Given the description of an element on the screen output the (x, y) to click on. 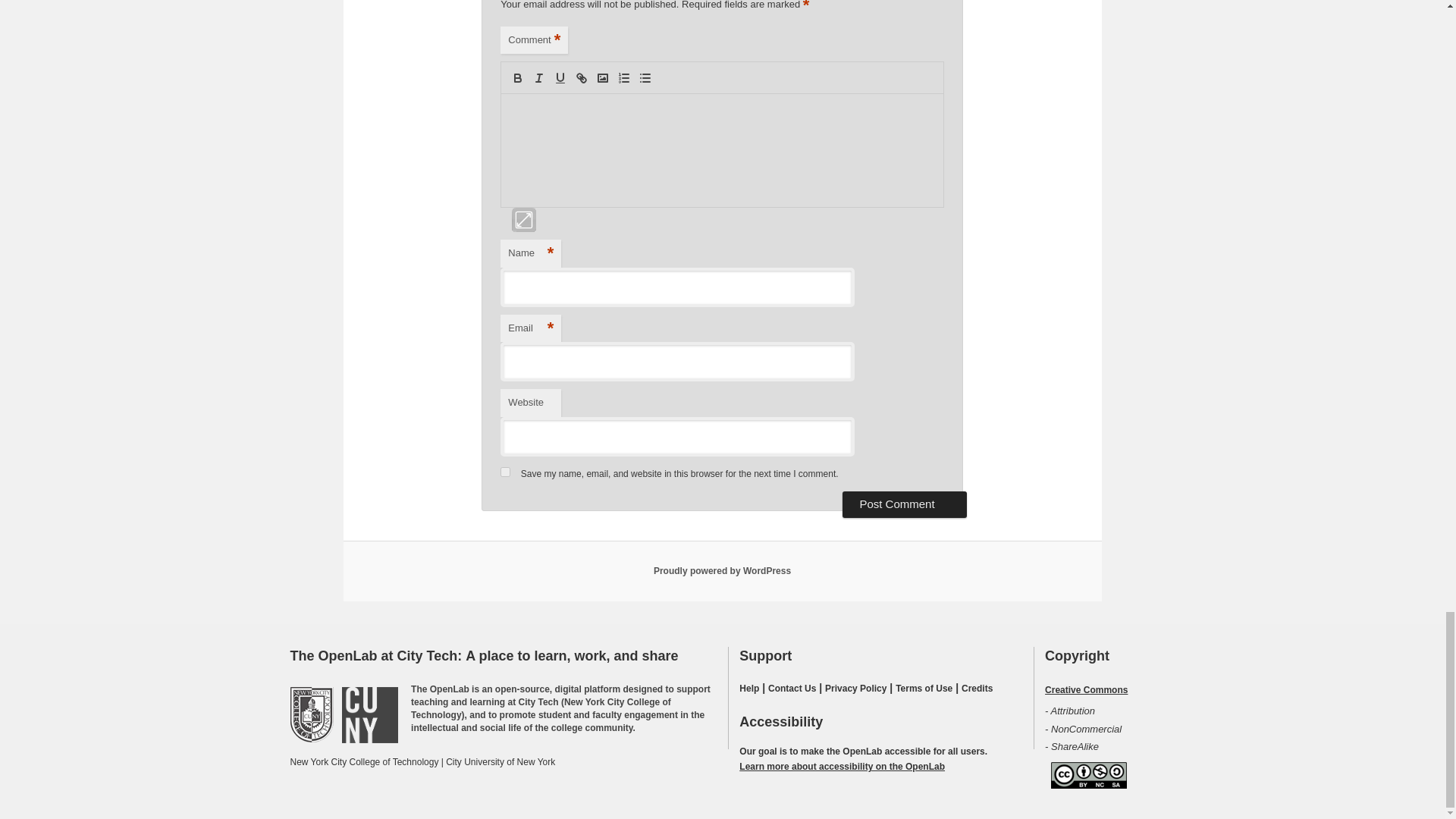
Post Comment (904, 503)
yes (505, 471)
Semantic Personal Publishing Platform (721, 570)
